Given the description of an element on the screen output the (x, y) to click on. 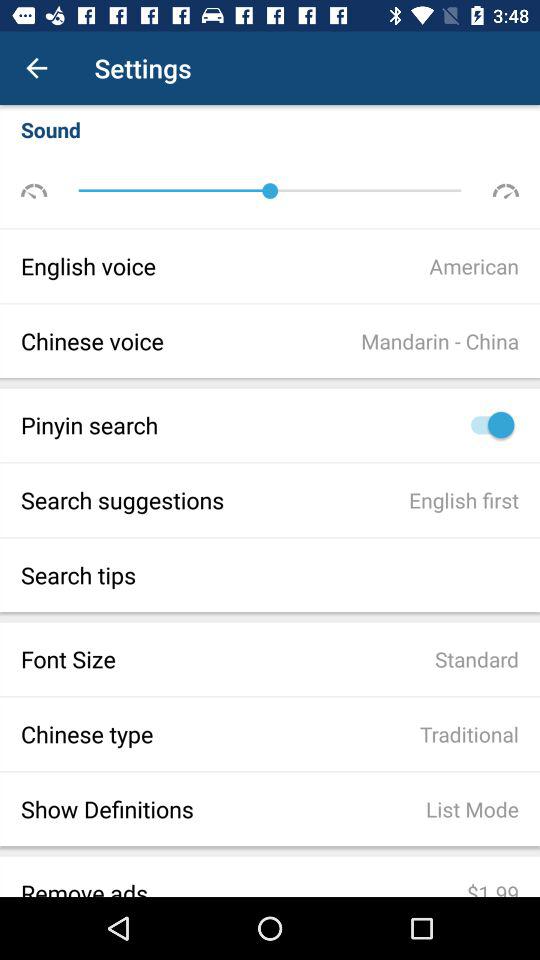
turn off the item to the left of the settings item (36, 68)
